Given the description of an element on the screen output the (x, y) to click on. 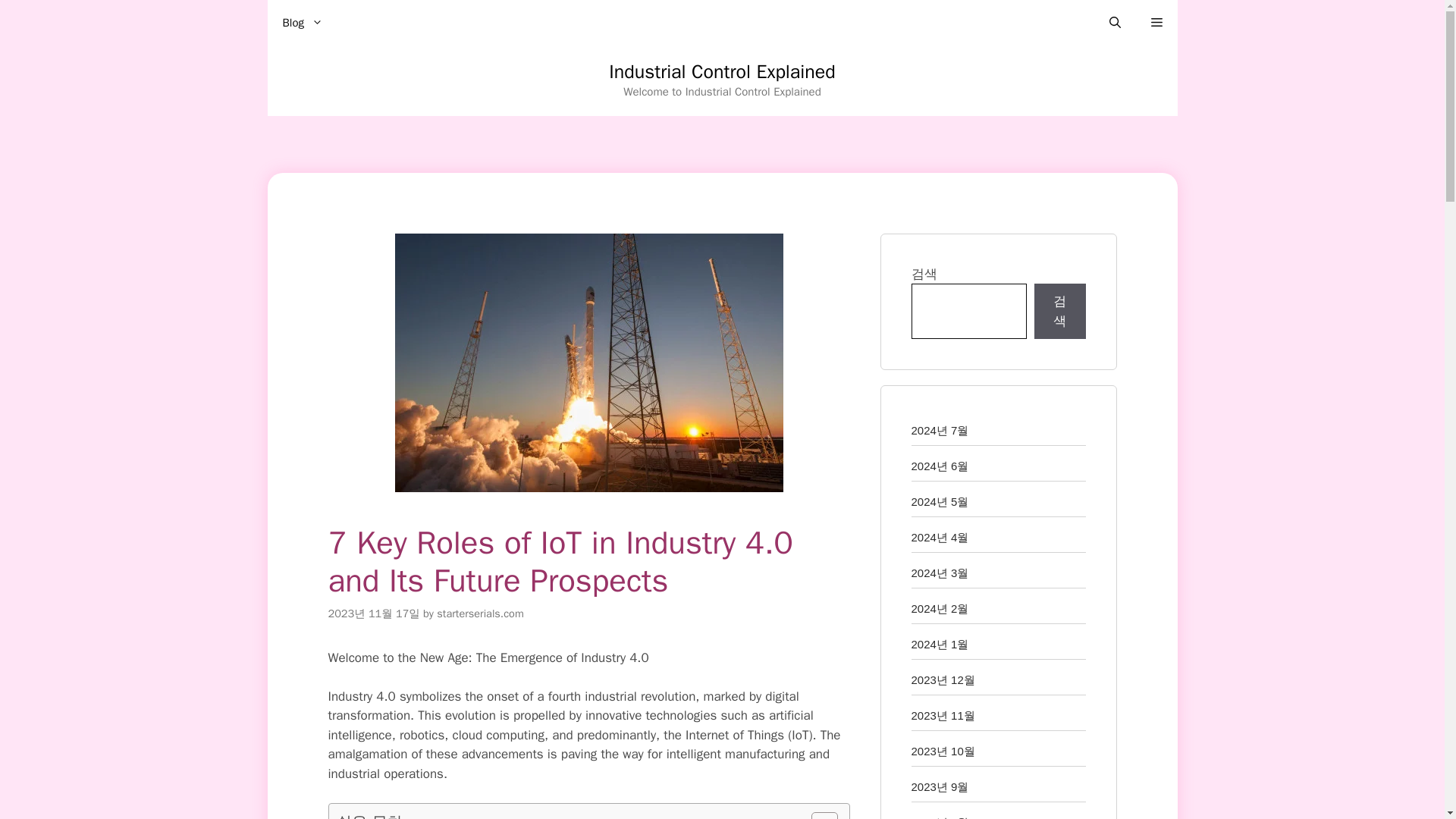
Industrial Control Explained (721, 71)
View all posts by starterserials.com (479, 612)
Blog (301, 22)
starterserials.com (479, 612)
